Given the description of an element on the screen output the (x, y) to click on. 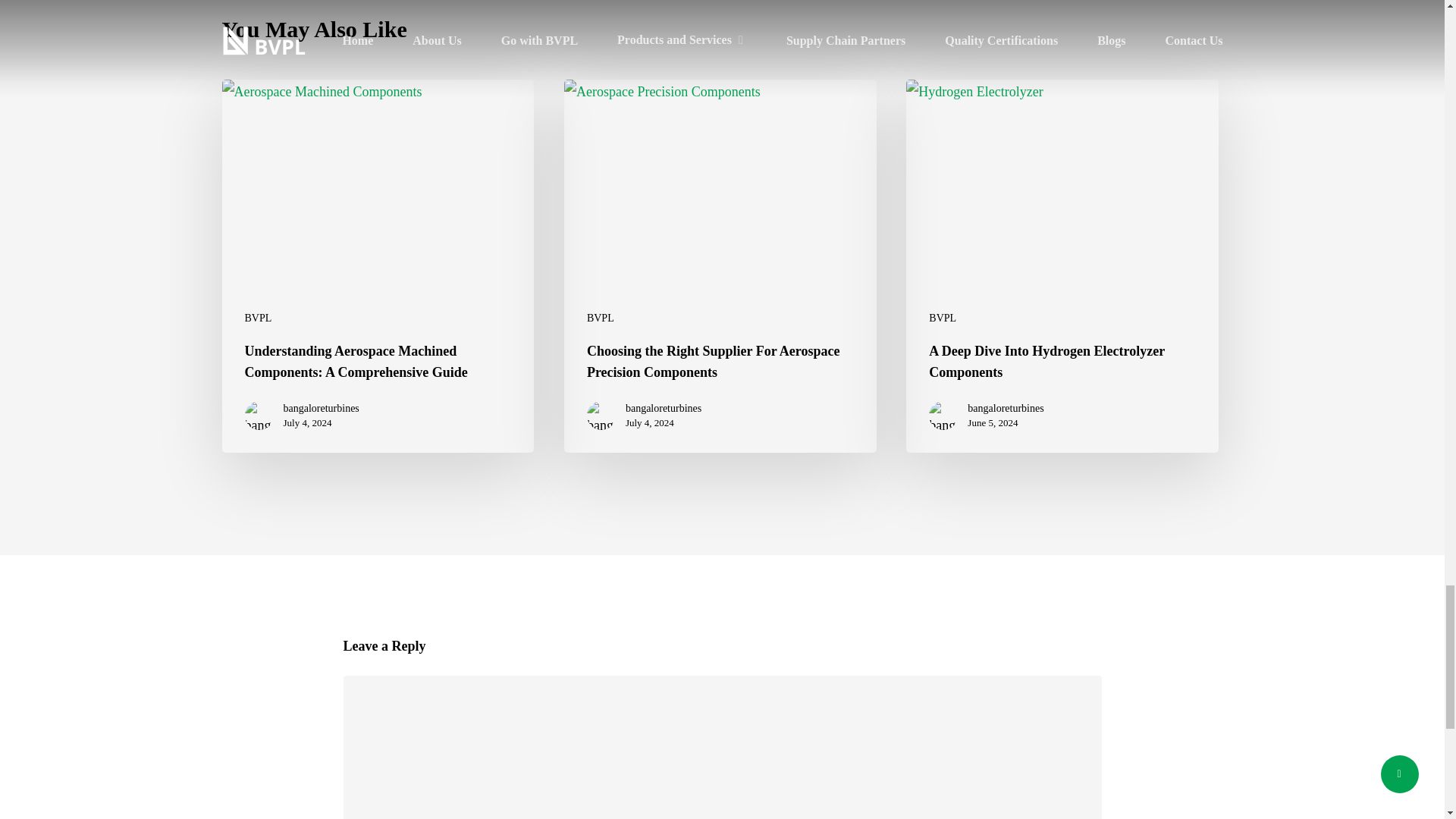
bangaloreturbines (1005, 408)
bangaloreturbines (321, 408)
BVPL (257, 318)
BVPL (600, 318)
BVPL (942, 318)
bangaloreturbines (663, 408)
